Given the description of an element on the screen output the (x, y) to click on. 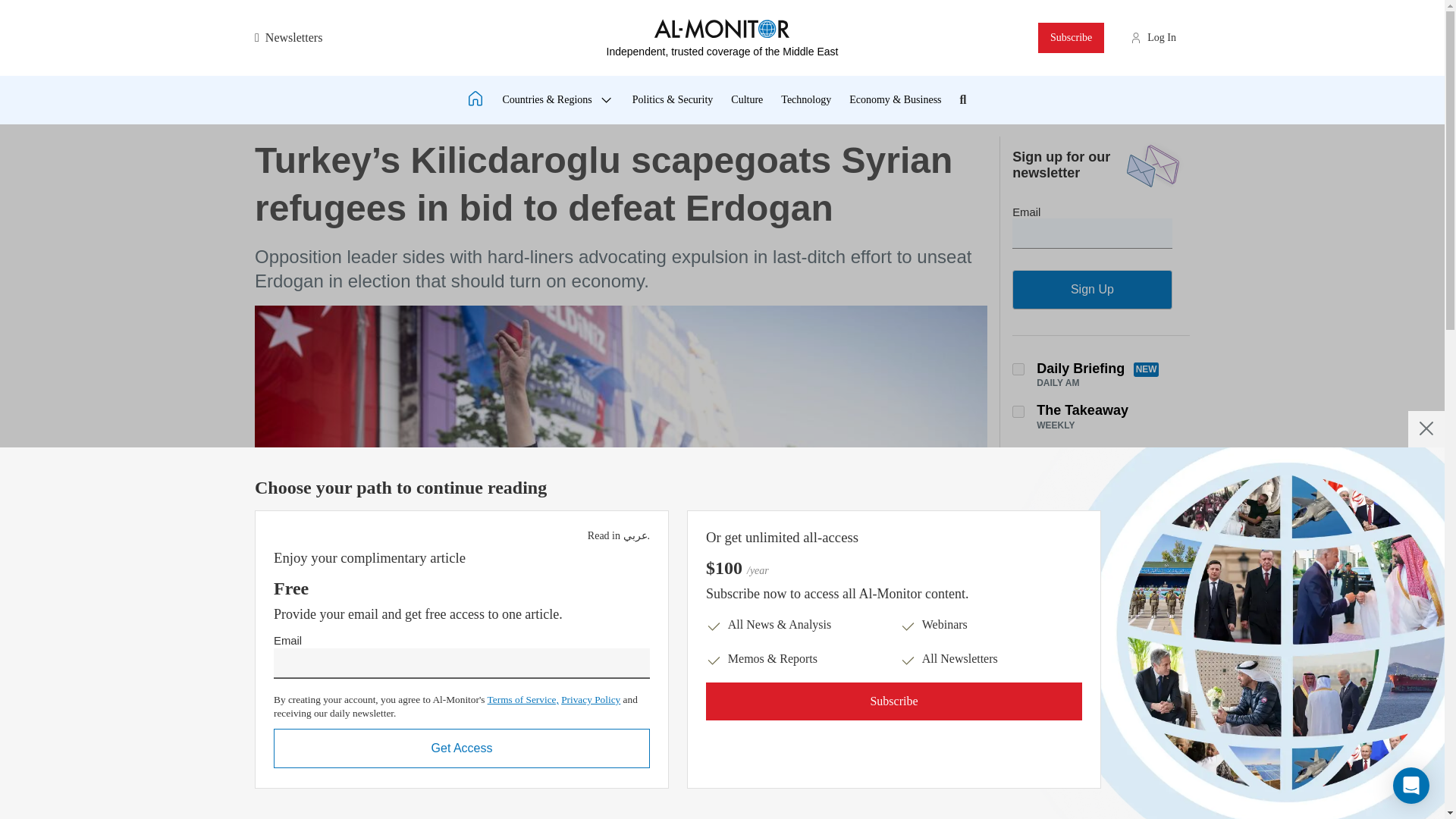
Daily Newsletter (1018, 369)
Sign Up (1091, 289)
China-Middle East Briefing (1018, 599)
Gulf Briefing (1018, 660)
Log In (1161, 37)
Subscribe (1070, 37)
Turkey Briefing (1018, 702)
Israel Briefing (1018, 745)
Security Briefing (1018, 557)
Culture (746, 99)
The Takeaway (1018, 411)
Week In Review Newsletter (1018, 453)
Get Access (461, 748)
Palestine Briefing (1018, 787)
